Given the description of an element on the screen output the (x, y) to click on. 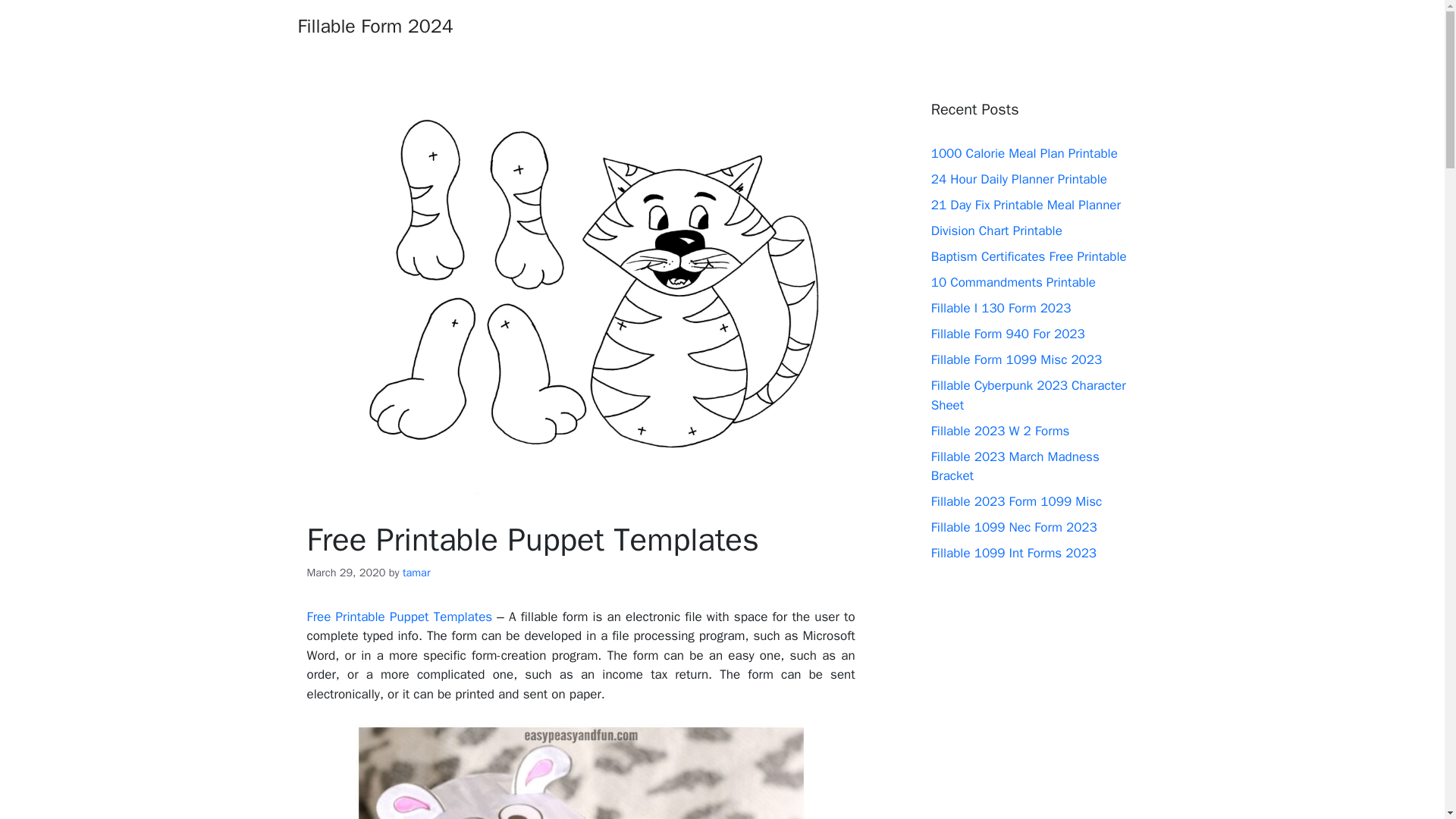
Fillable 1099 Int Forms 2023 (1013, 553)
Fillable Form 1099 Misc 2023 (1016, 359)
21 Day Fix Printable Meal Planner (1026, 204)
Fillable 2023 W 2 Forms (1000, 430)
Free Printable Puppet Templates (581, 771)
1000 Calorie Meal Plan Printable (1024, 153)
Division Chart Printable (996, 230)
Fillable Form 2024 (374, 25)
Fillable Form 940 For 2023 (1007, 333)
Fillable 2023 March Madness Bracket (1015, 466)
